Given the description of an element on the screen output the (x, y) to click on. 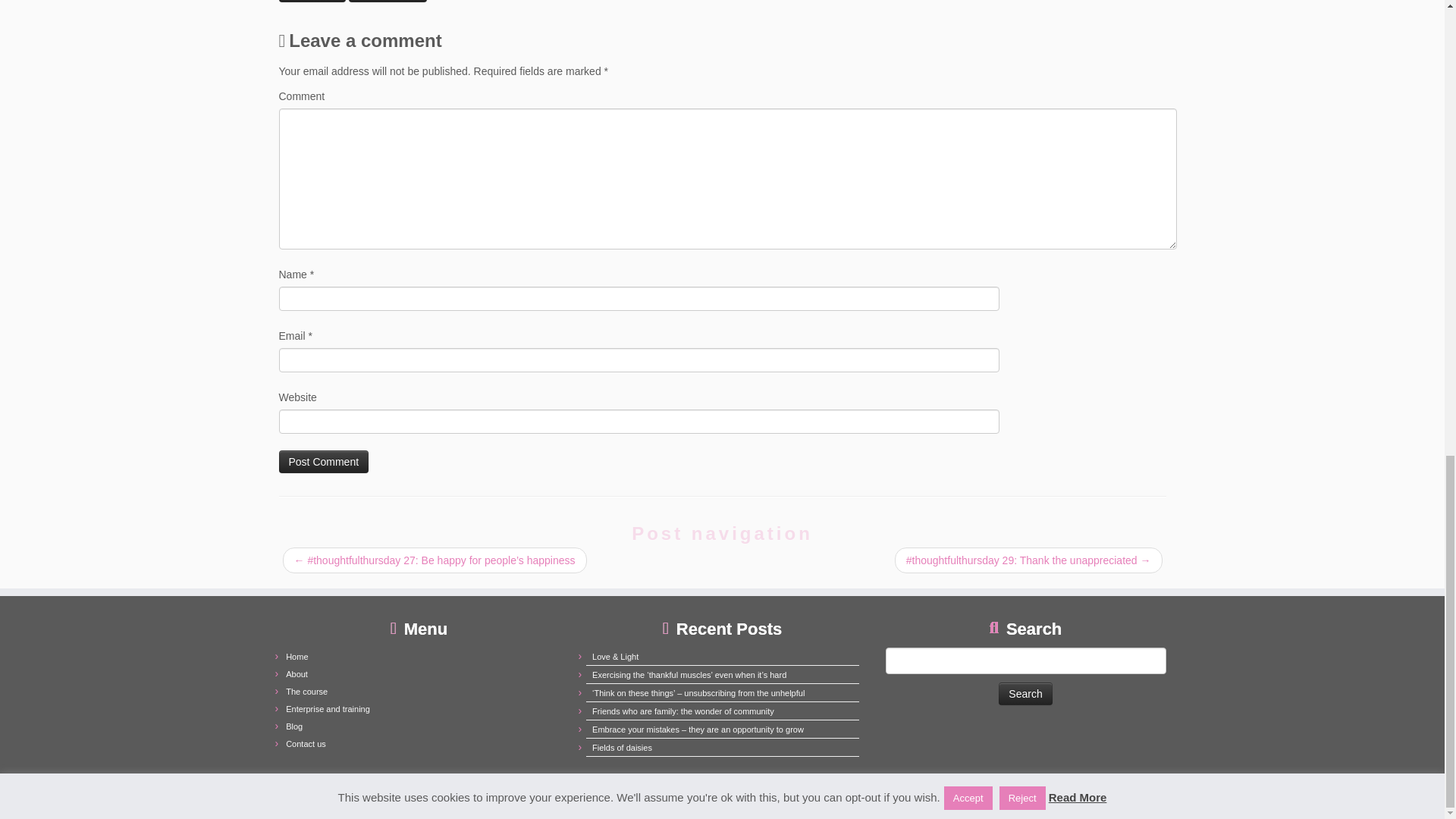
Post Comment (324, 461)
Unsubscribe (388, 1)
Search (1024, 693)
Subscribe (312, 1)
